Given the description of an element on the screen output the (x, y) to click on. 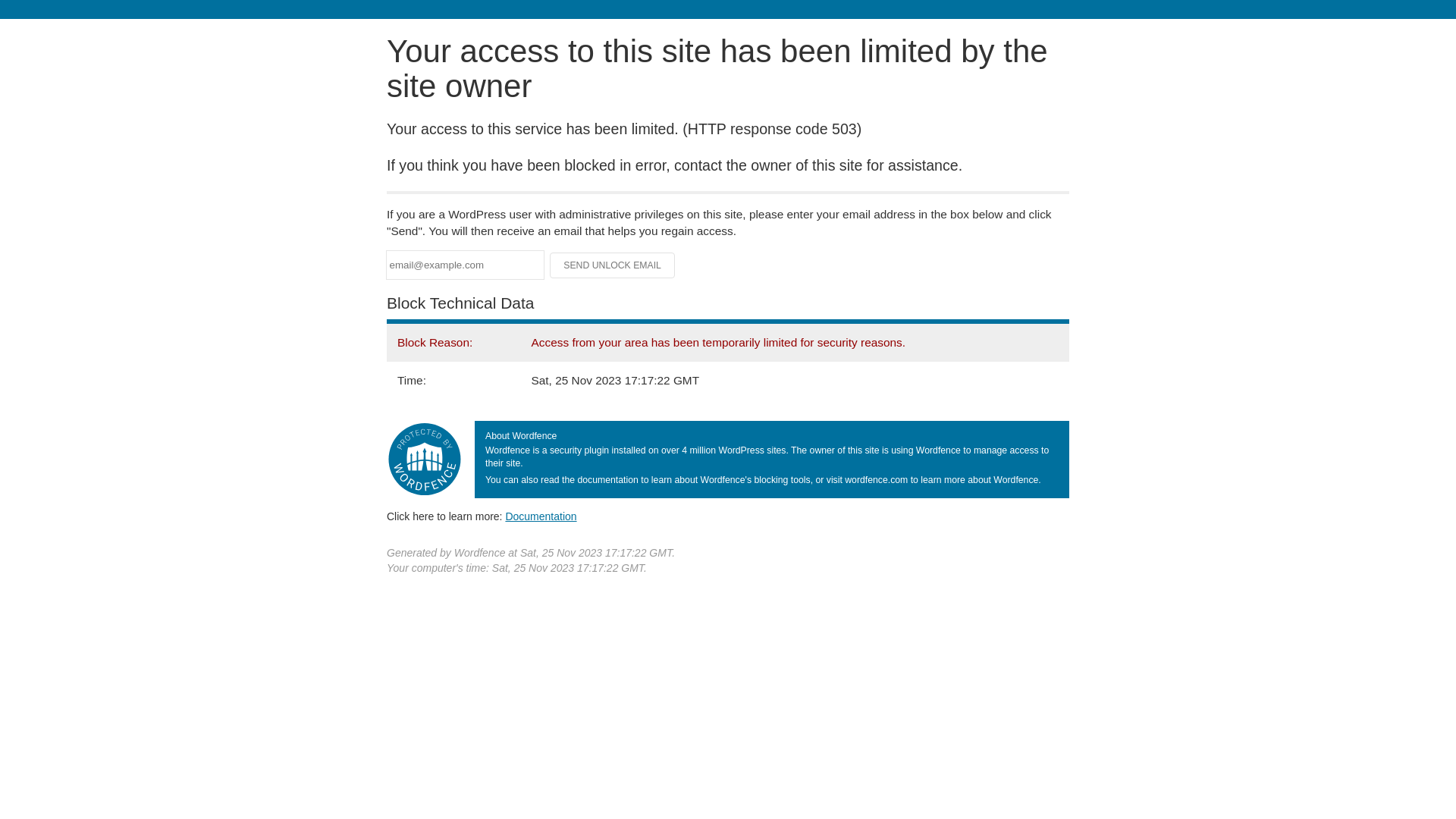
Send Unlock Email Element type: text (612, 265)
Documentation Element type: text (540, 516)
